Given the description of an element on the screen output the (x, y) to click on. 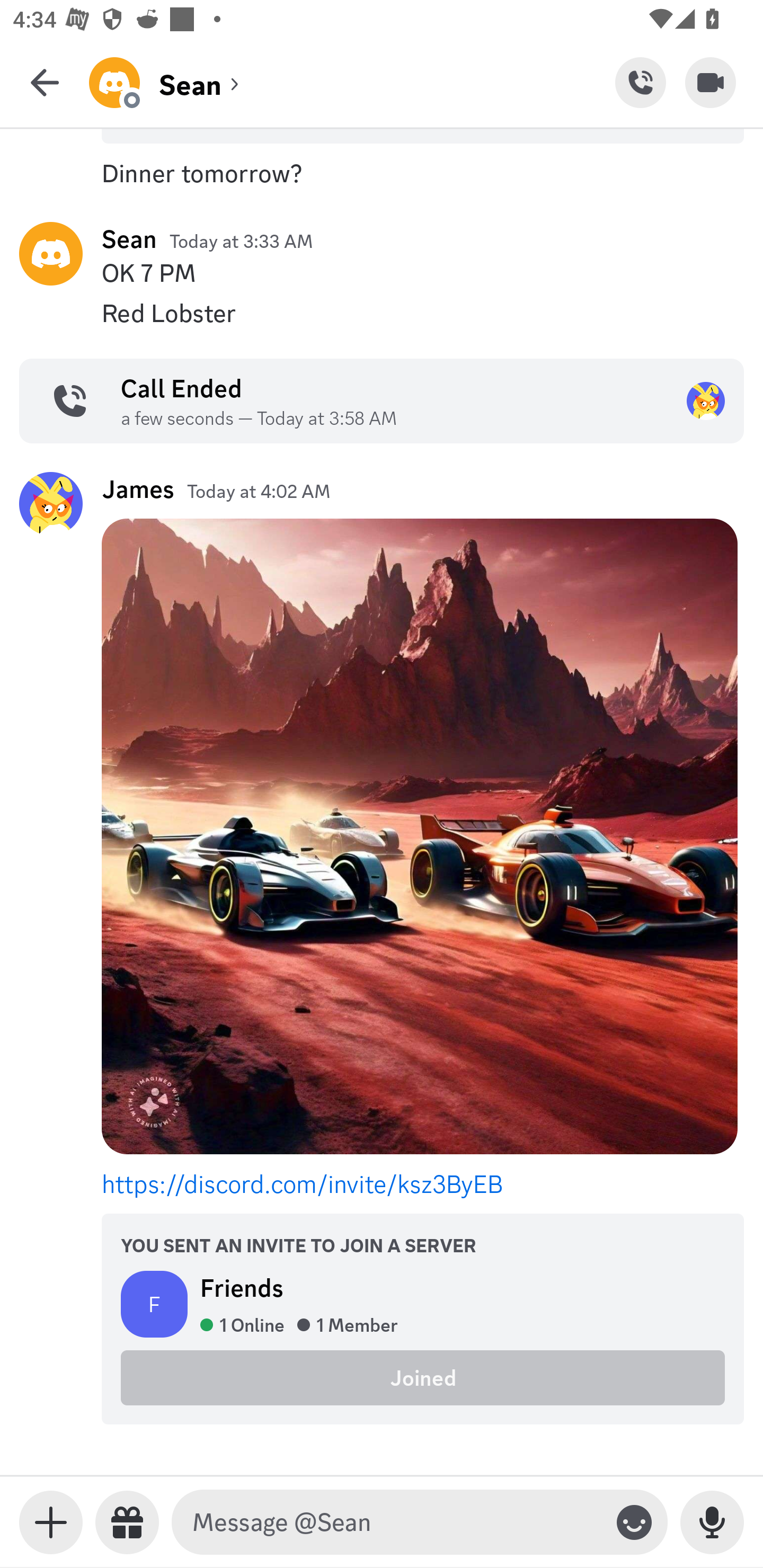
Sean (channel) Sean Sean (channel) (351, 82)
Back (44, 82)
Start Voice Call (640, 82)
Start Video Call (710, 82)
Search (381, 159)
Sean (129, 238)
yuxiang.007, Red Lobster Red Lobster (381, 312)
Call Ended a few seconds — Today at 3:58 AM (381, 401)
James (137, 488)
Joined (422, 1377)
Message @Sean Toggle emoji keyboard (419, 1522)
Toggle media keyboard (50, 1522)
Send a gift (126, 1522)
Record Voice Message (711, 1522)
Toggle emoji keyboard (634, 1522)
